Given the description of an element on the screen output the (x, y) to click on. 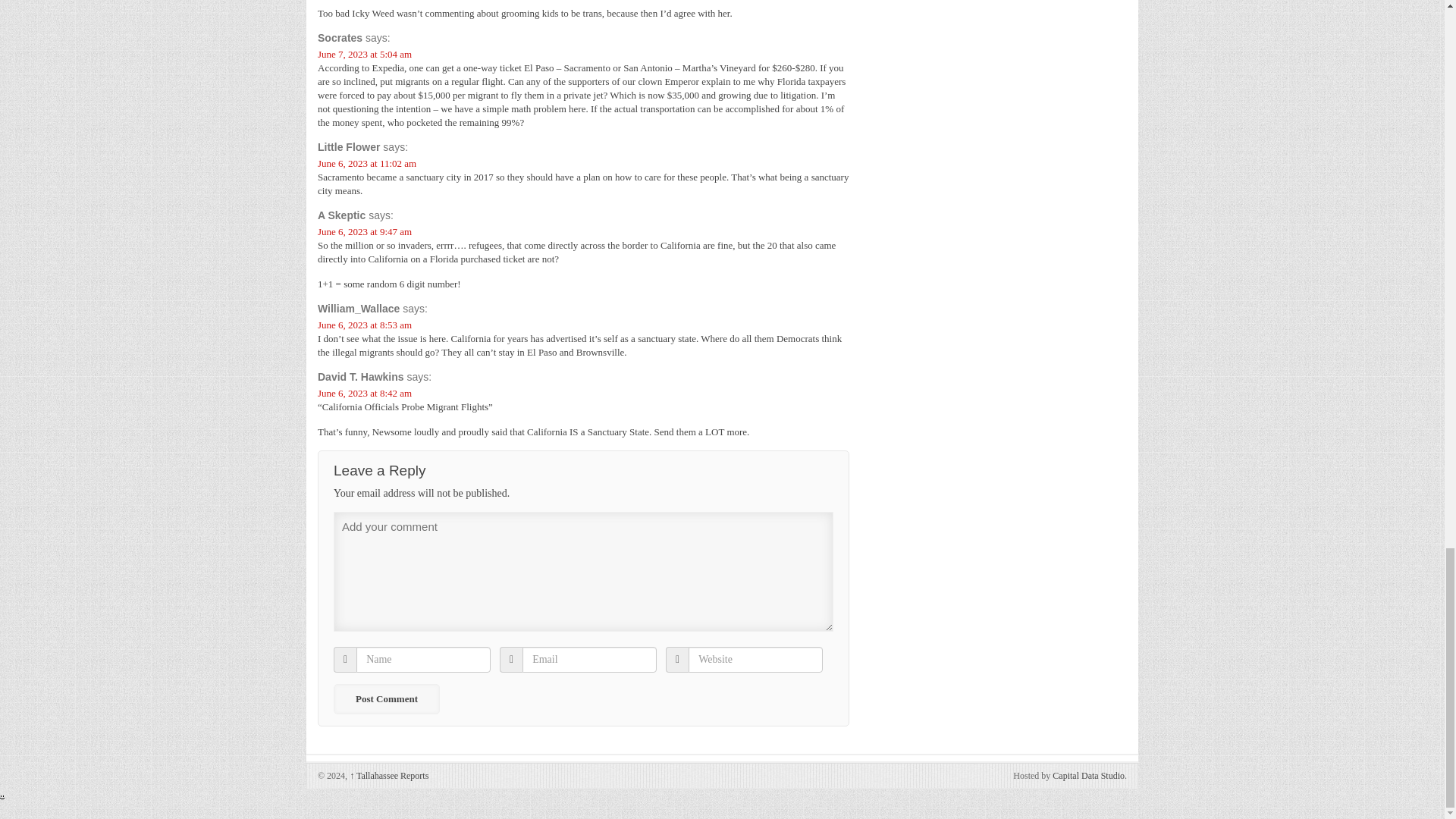
Post Comment (386, 698)
